Given the description of an element on the screen output the (x, y) to click on. 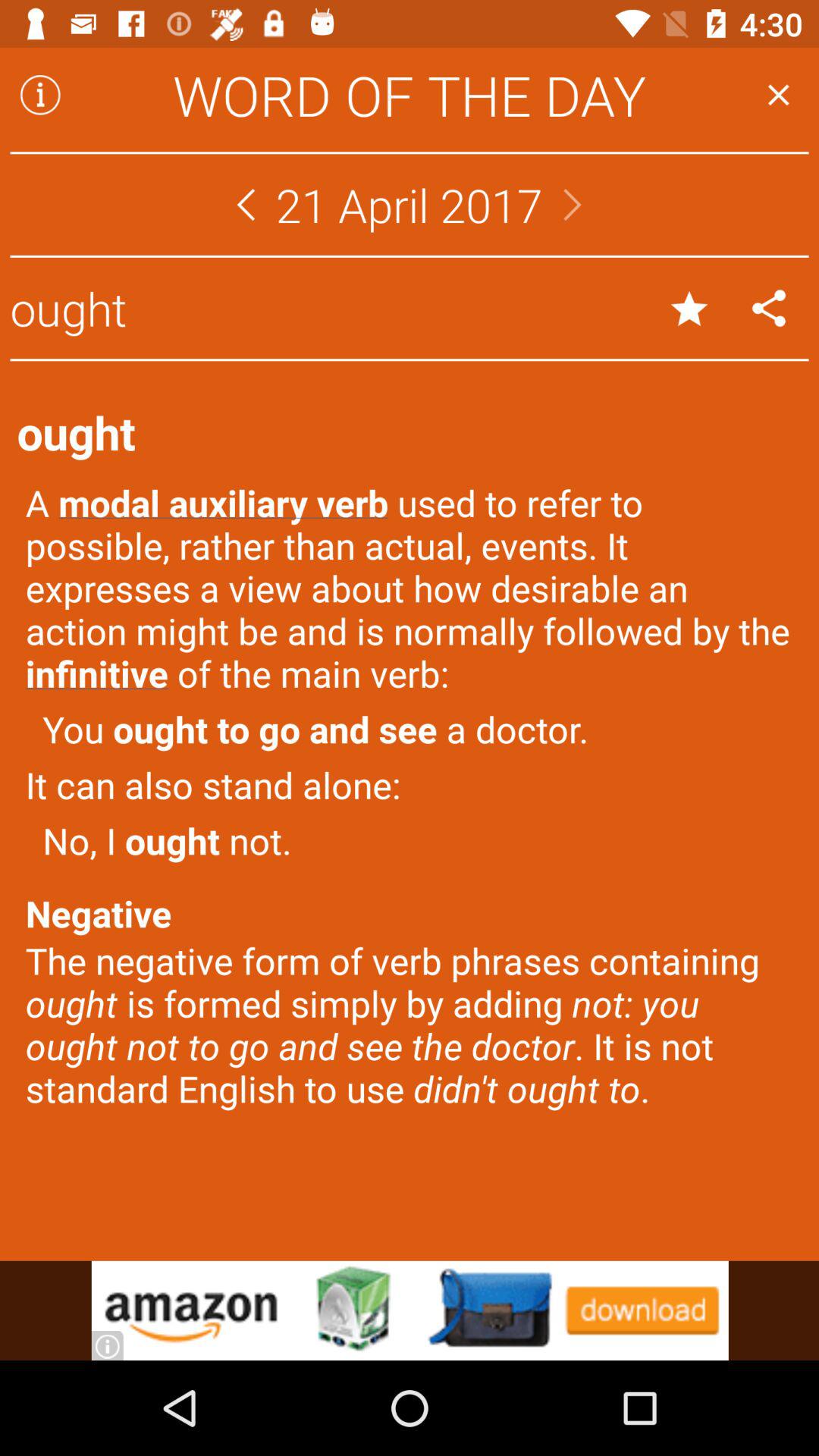
open advertisement (409, 1310)
